Given the description of an element on the screen output the (x, y) to click on. 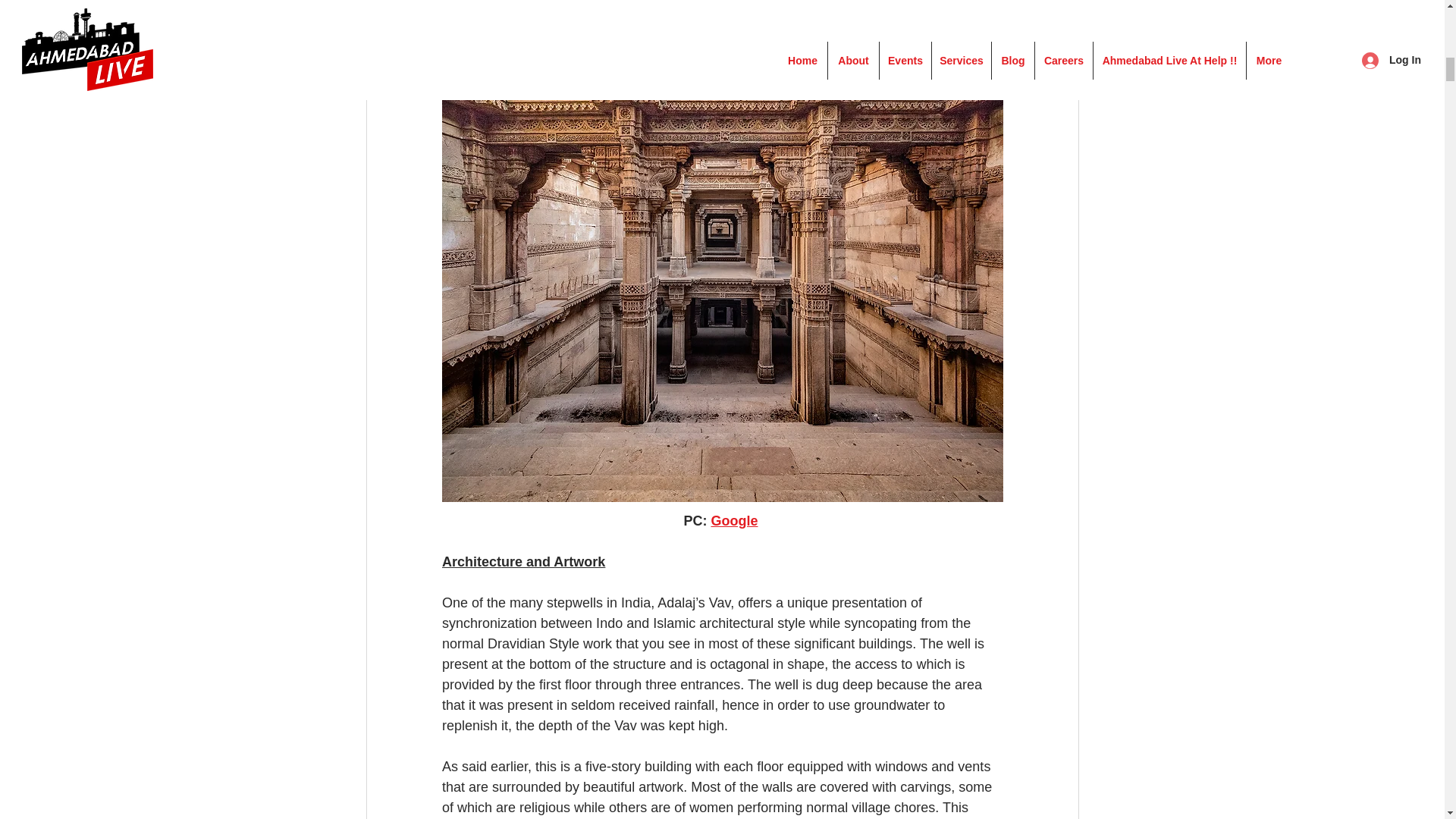
Google (733, 520)
